Given the description of an element on the screen output the (x, y) to click on. 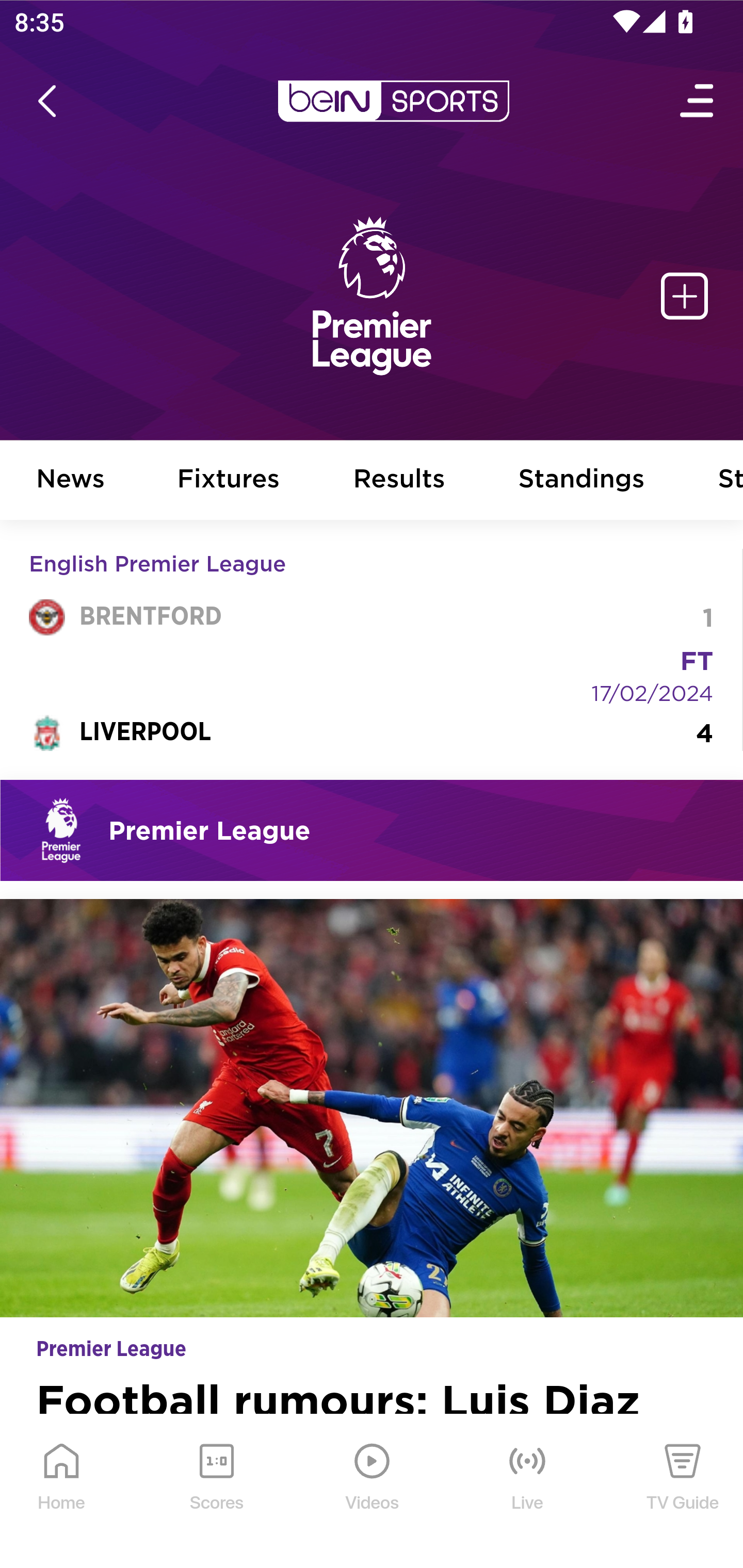
en-us?platform=mobile_android bein logo white (392, 101)
icon back (46, 101)
Open Menu Icon (697, 101)
News (70, 480)
Fixtures (229, 480)
Results (399, 480)
Standings (581, 480)
Home Home Icon Home (61, 1491)
Scores Scores Icon Scores (216, 1491)
Videos Videos Icon Videos (372, 1491)
TV Guide TV Guide Icon TV Guide (682, 1491)
